Given the description of an element on the screen output the (x, y) to click on. 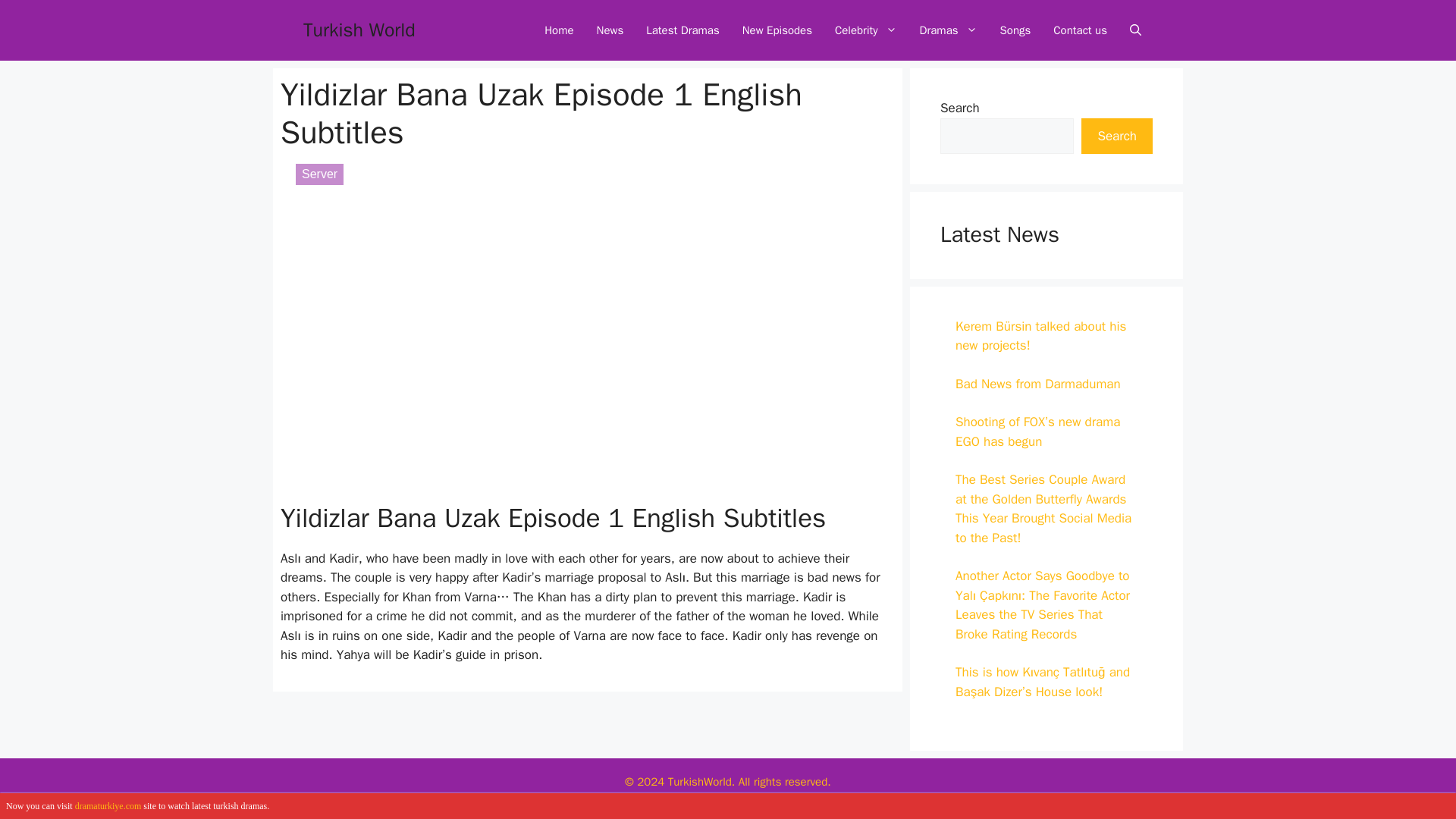
Dramas (948, 30)
Home (558, 30)
Turkish World (358, 29)
Latest Dramas (682, 30)
Songs (1015, 30)
News (609, 30)
Contact us (1080, 30)
New Episodes (777, 30)
Celebrity (866, 30)
